Given the description of an element on the screen output the (x, y) to click on. 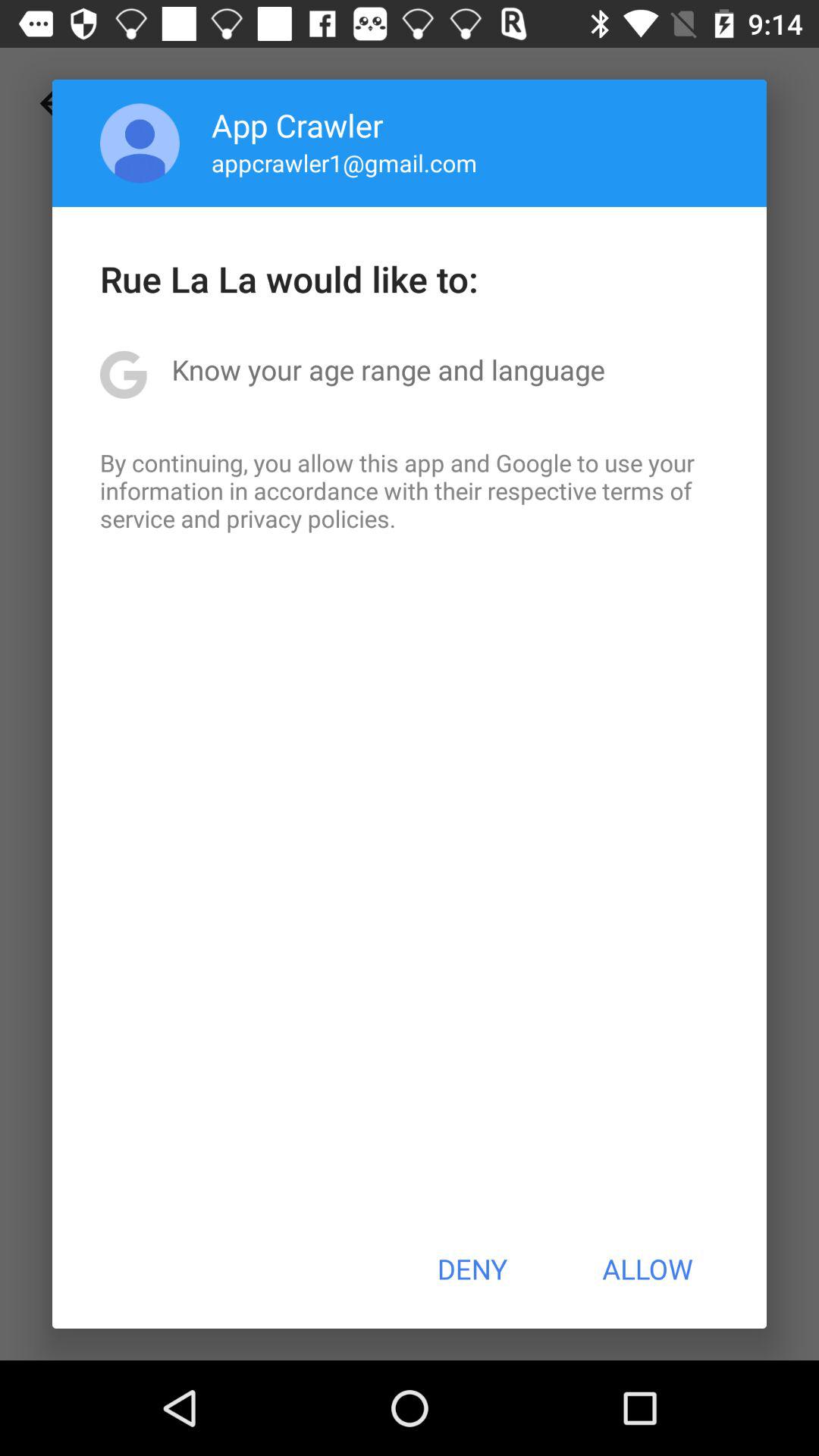
select appcrawler1@gmail.com app (344, 162)
